Given the description of an element on the screen output the (x, y) to click on. 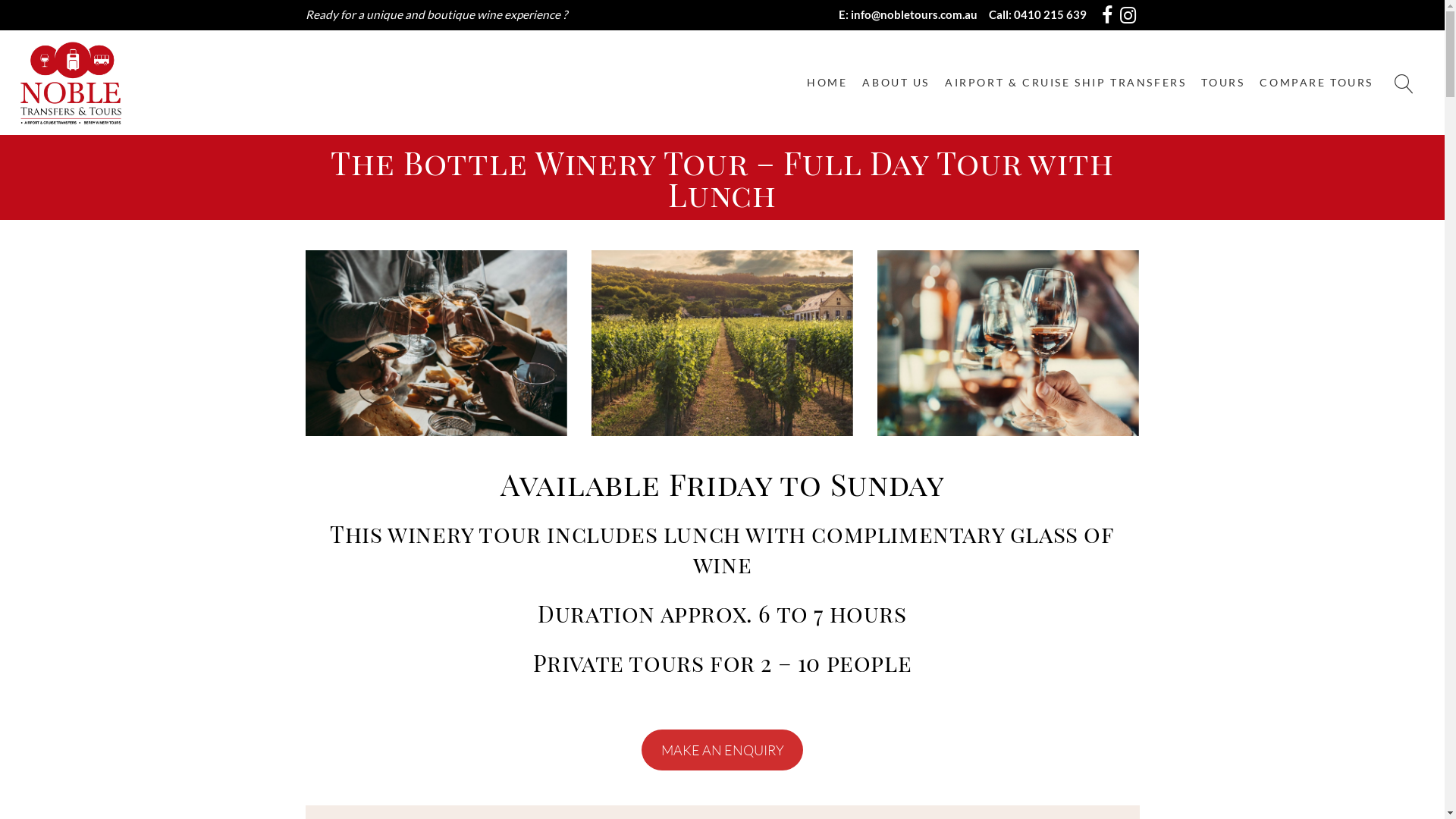
COMPARE TOURS Element type: text (1316, 82)
info@nobletours.com.au Element type: text (913, 14)
TOURS Element type: text (1222, 82)
HOME Element type: text (826, 82)
0410 215 639 Element type: text (1049, 14)
AIRPORT & CRUISE SHIP TRANSFERS Element type: text (1065, 82)
MAKE AN ENQUIRY Element type: text (722, 749)
ABOUT US Element type: text (895, 82)
